Given the description of an element on the screen output the (x, y) to click on. 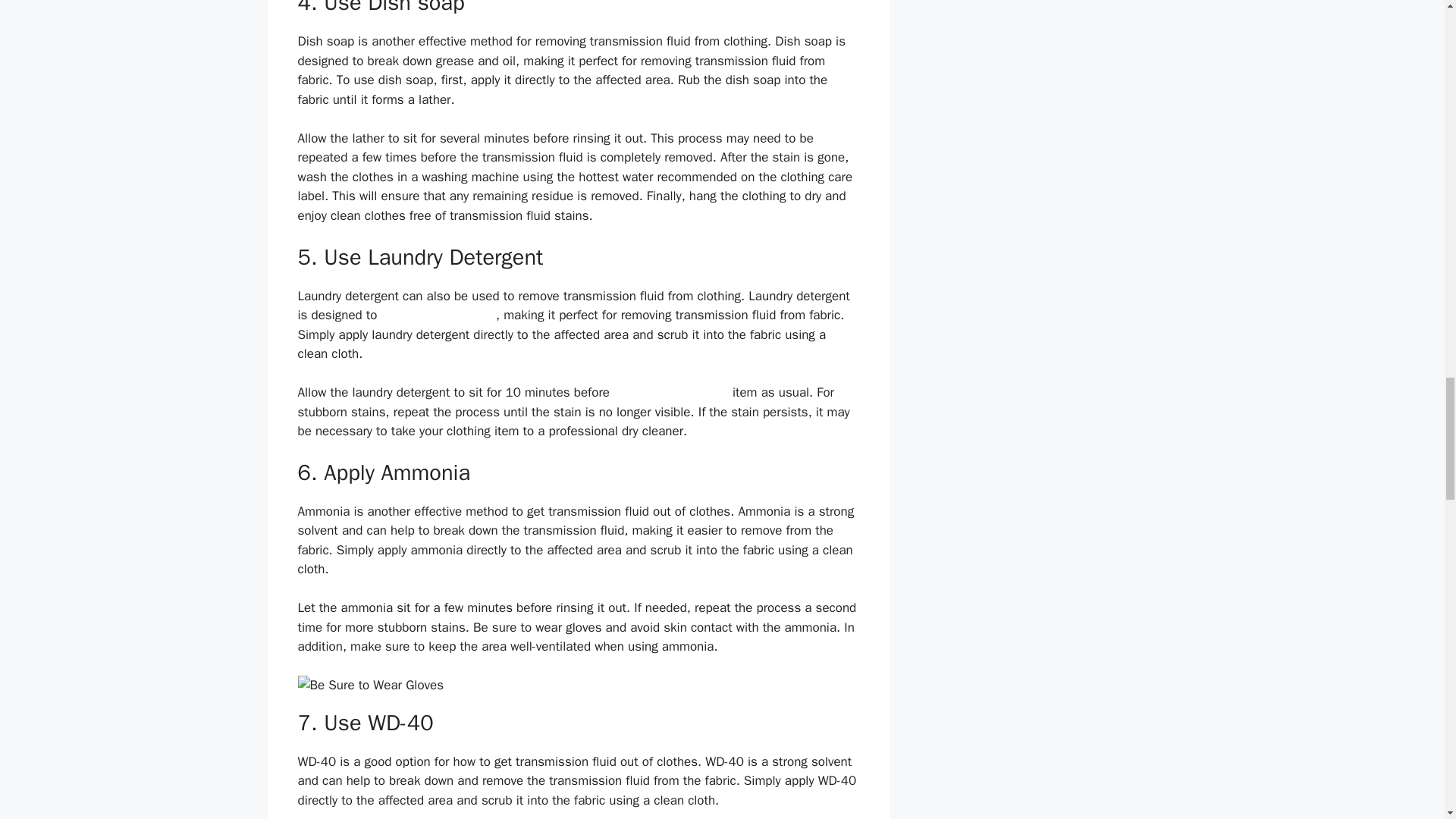
remove tough stains (438, 314)
washing the clothing (670, 392)
